Given the description of an element on the screen output the (x, y) to click on. 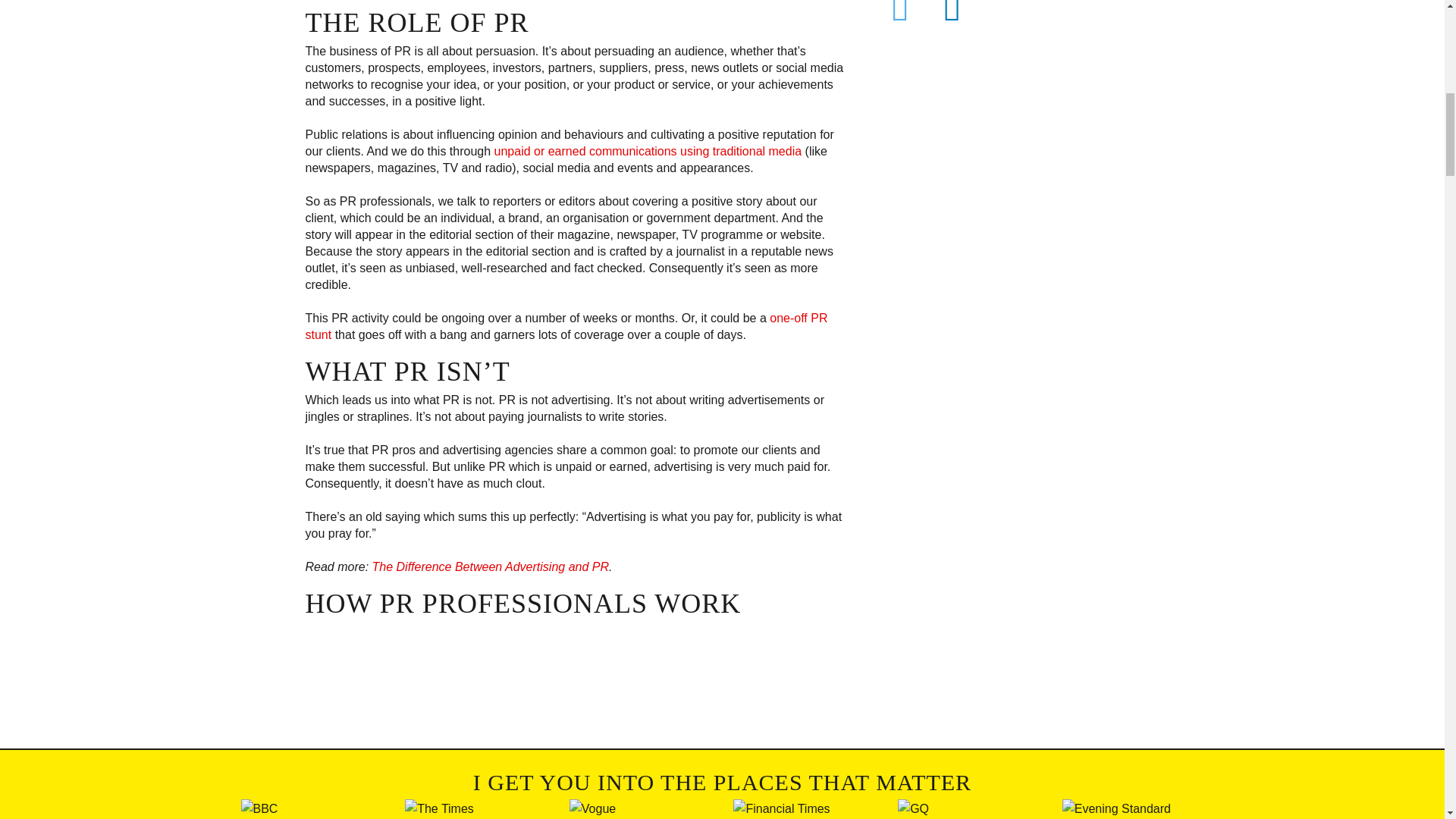
one-off PR stunt (565, 325)
unpaid or earned communications using traditional media (648, 150)
The Difference Between Advertising and PR (490, 565)
